Given the description of an element on the screen output the (x, y) to click on. 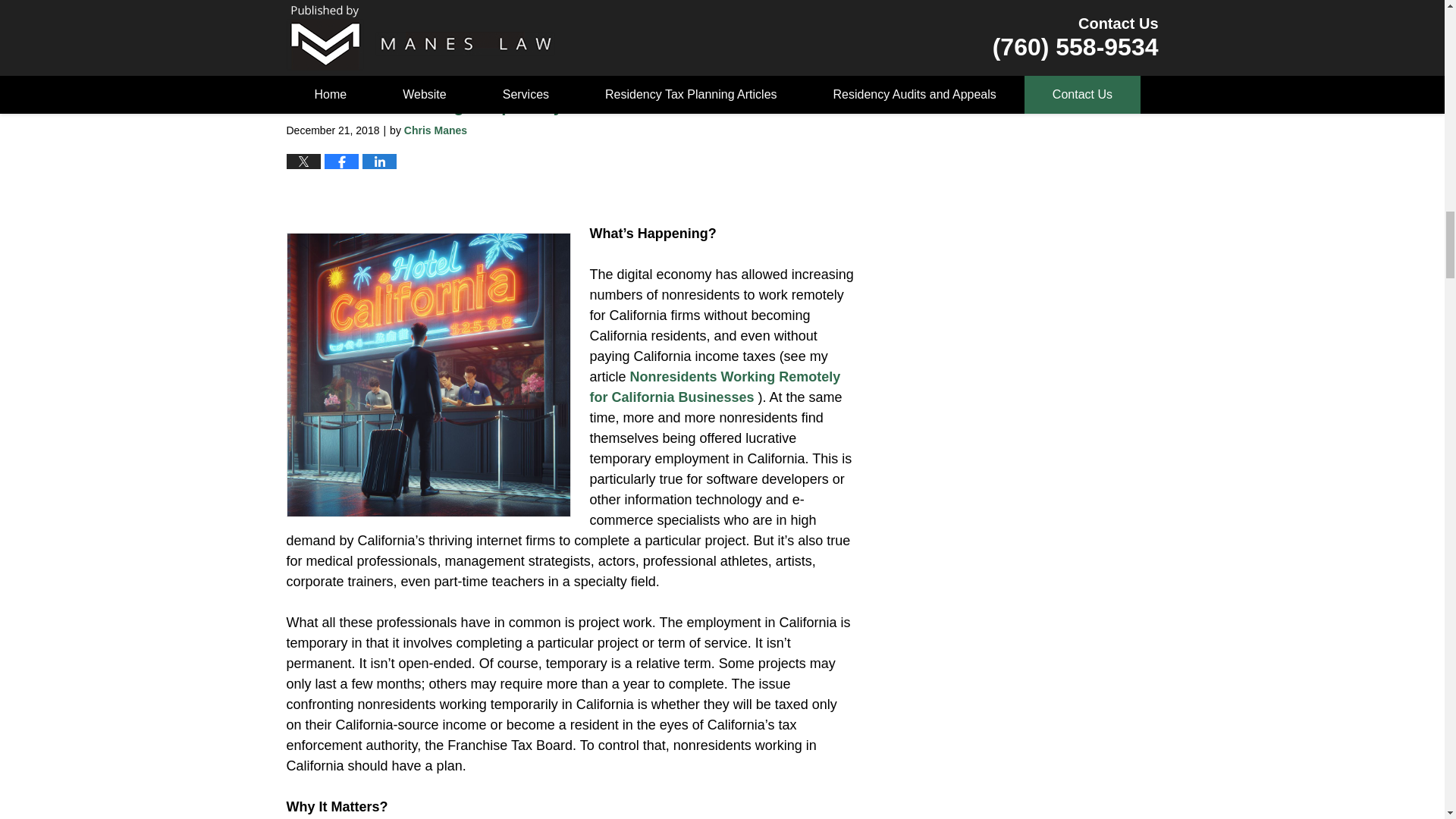
View all posts tagged with California Residency Audit (393, 6)
View all posts tagged with California Residency Tax (529, 6)
